Given the description of an element on the screen output the (x, y) to click on. 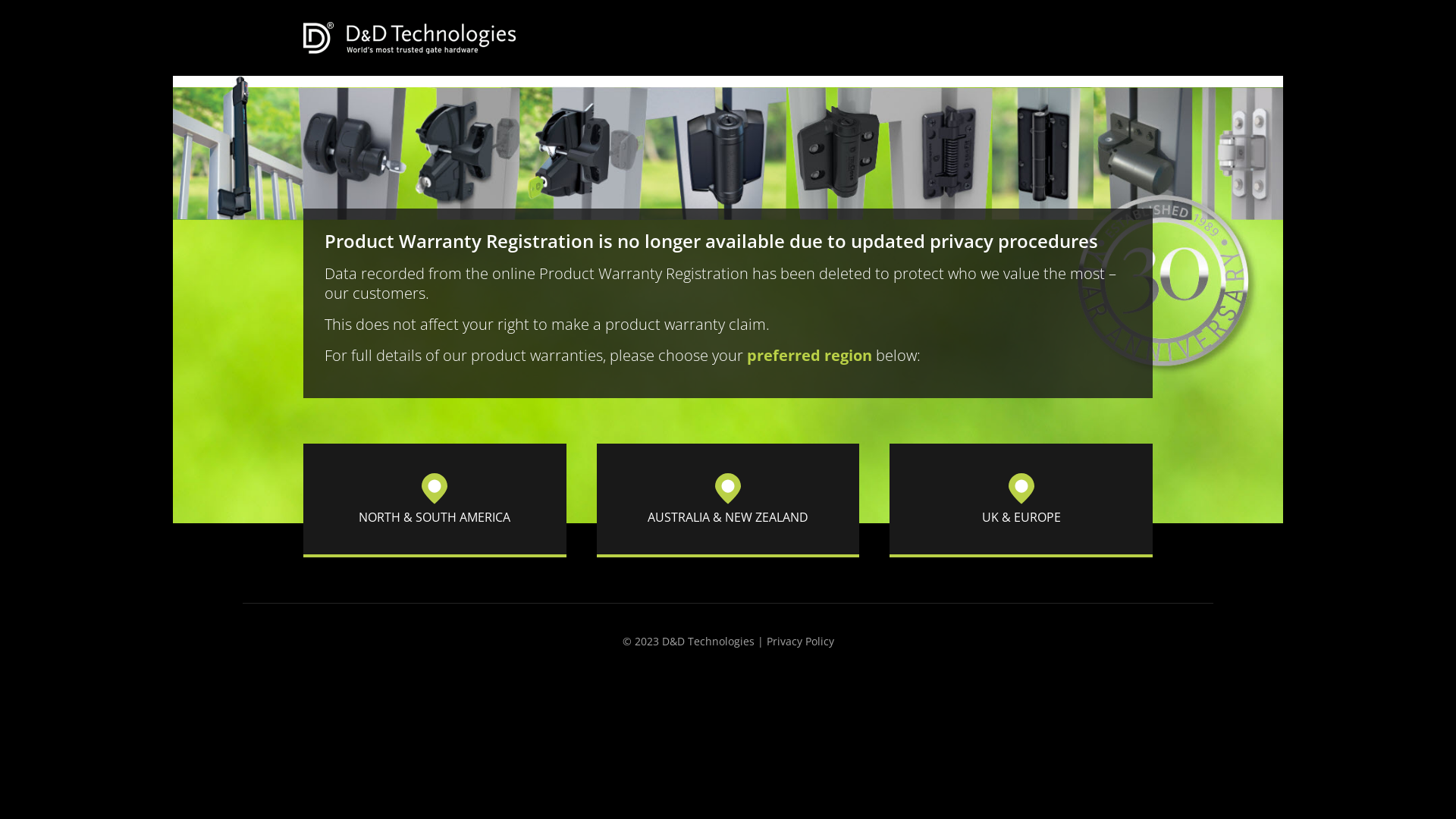
Privacy Policy Element type: text (799, 640)
NORTH & SOUTH AMERICA Element type: text (434, 500)
AUSTRALIA & NEW ZEALAND Element type: text (727, 500)
UK & EUROPE Element type: text (1020, 500)
